Given the description of an element on the screen output the (x, y) to click on. 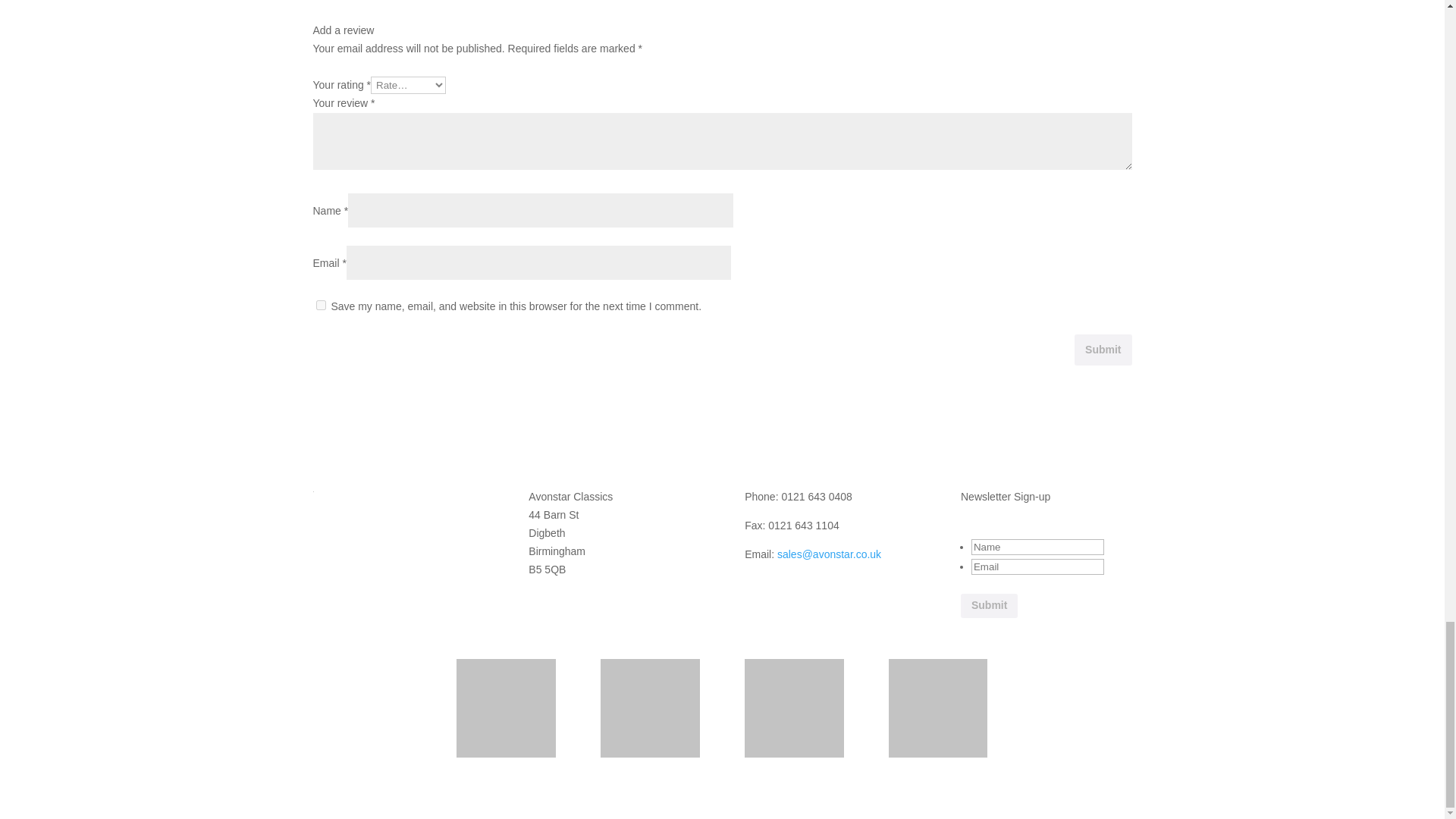
Submit (1102, 349)
Submit (988, 605)
yes (319, 305)
Submit (988, 605)
Submit (1102, 349)
